Given the description of an element on the screen output the (x, y) to click on. 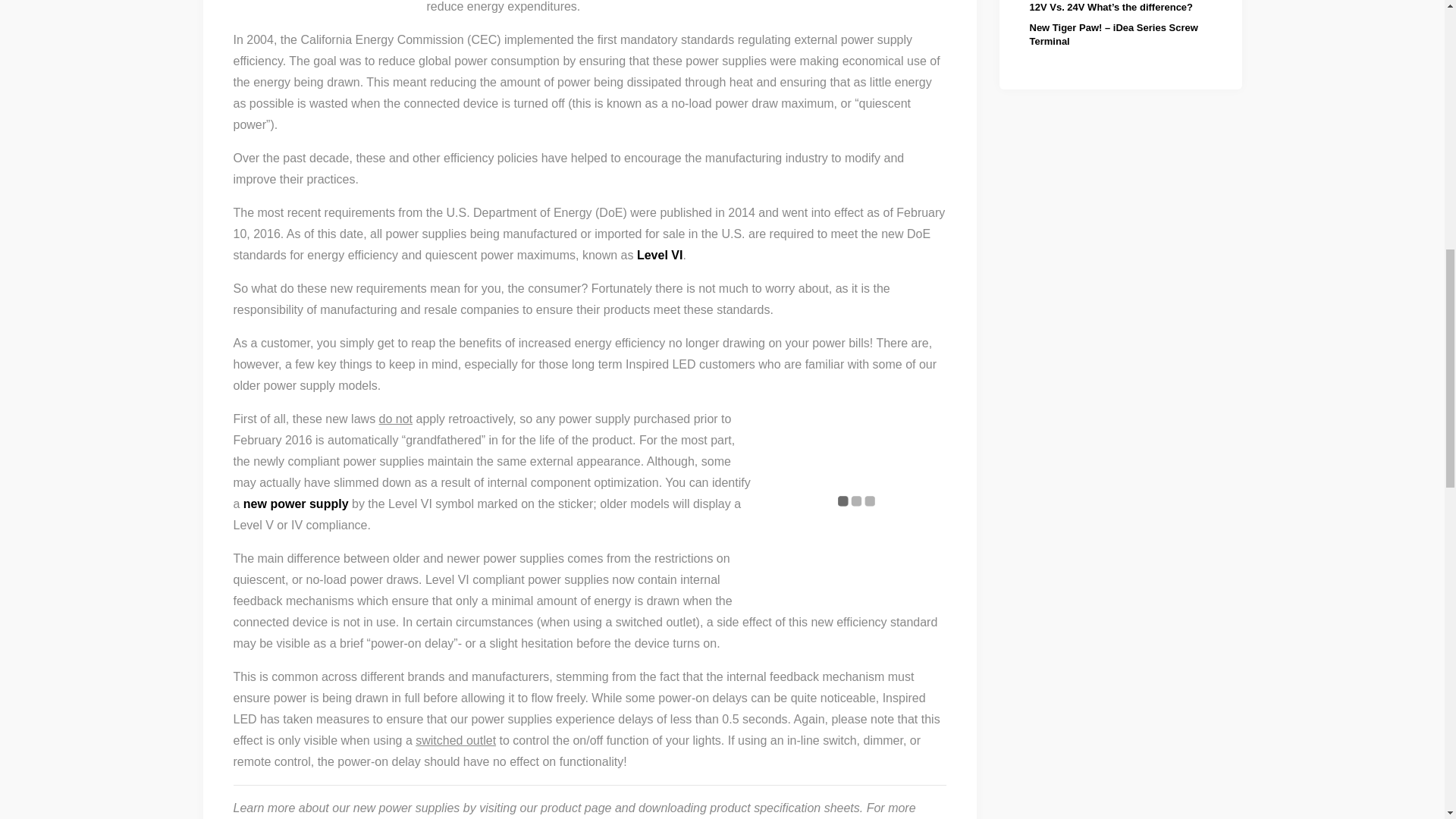
new power supply (296, 503)
Level VI (659, 254)
